Given the description of an element on the screen output the (x, y) to click on. 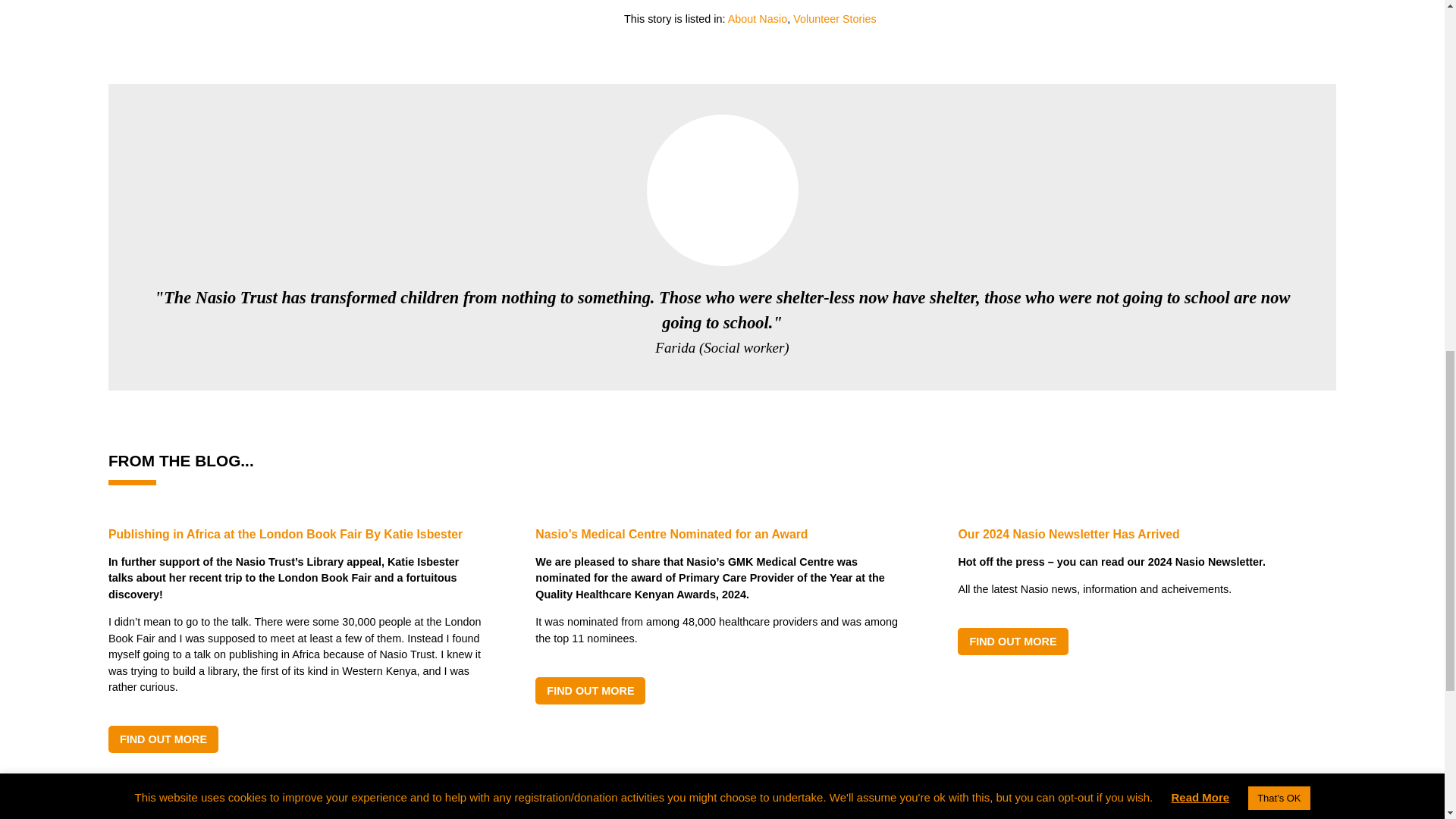
FIND OUT MORE (590, 689)
Our 2024 Nasio Newsletter Has Arrived (1147, 534)
Volunteer Stories (834, 19)
Our 2024 Nasio Newsletter Has Arrived (1012, 641)
FIND OUT MORE (162, 738)
Sign Up (580, 818)
Find The Nasio Trust on Instagram (1316, 817)
About Nasio (757, 19)
